Given the description of an element on the screen output the (x, y) to click on. 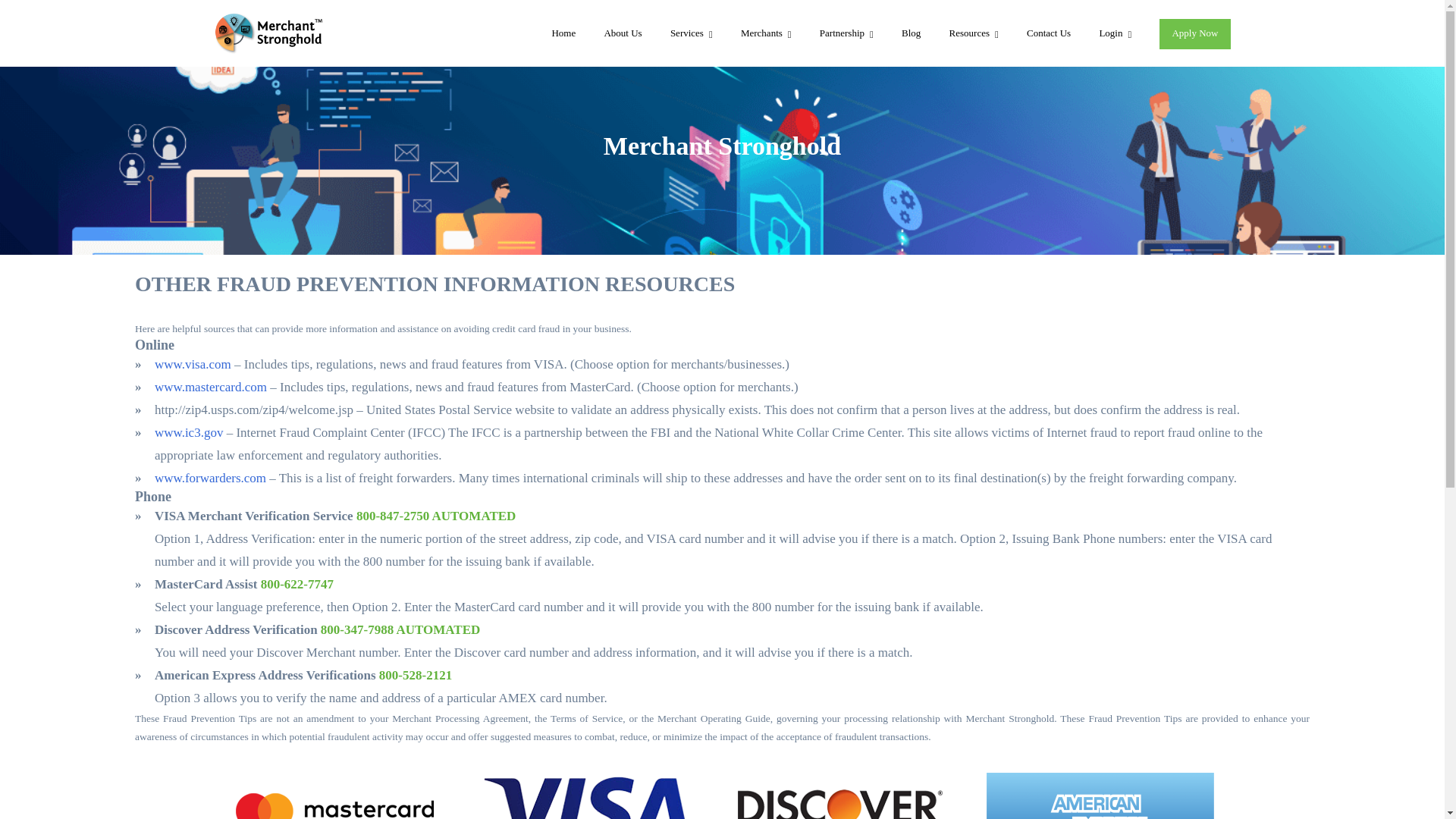
Apply Now (1194, 33)
mastercard (334, 796)
discover (840, 796)
visa (587, 796)
